Given the description of an element on the screen output the (x, y) to click on. 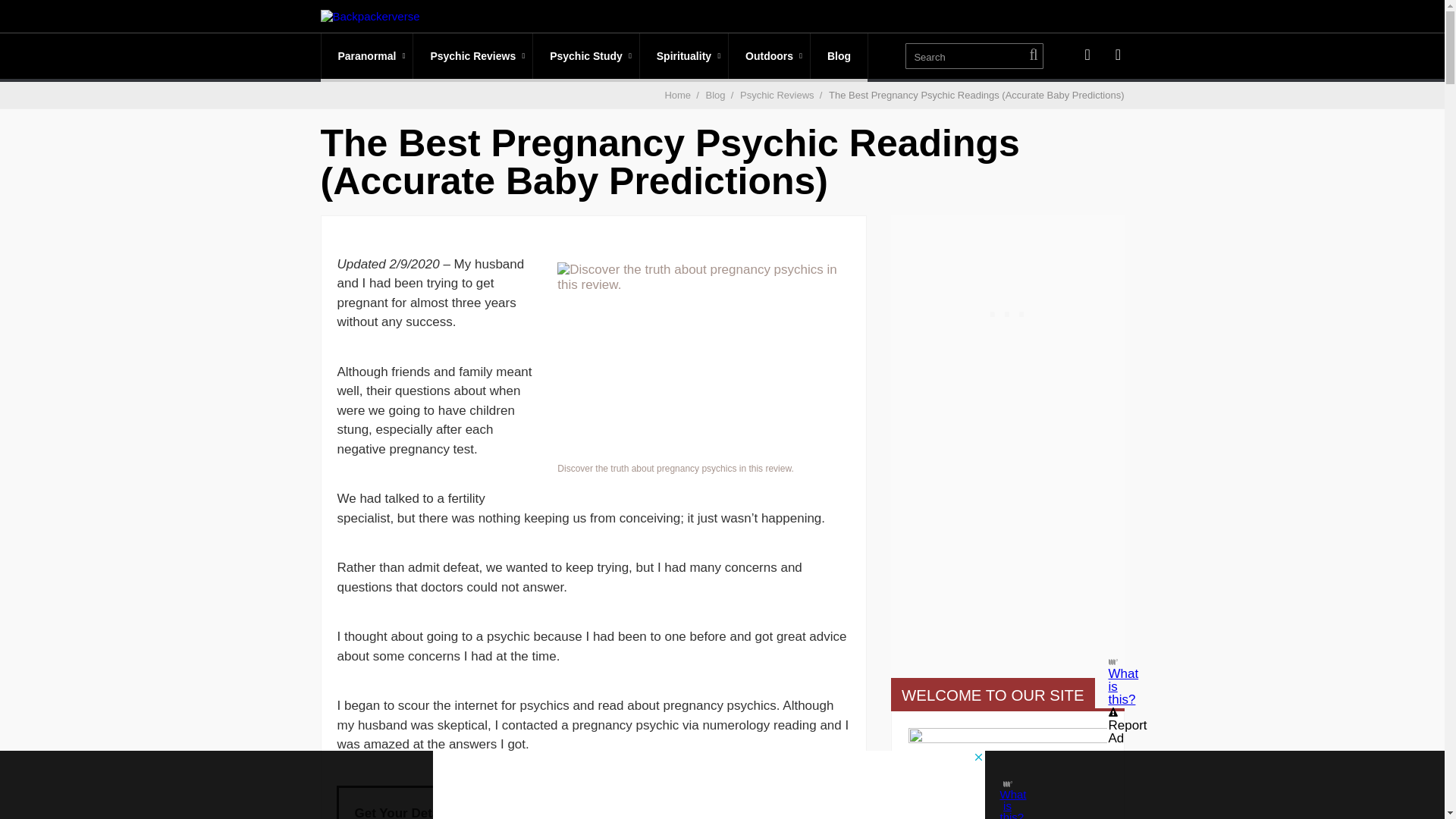
Psychic Study (585, 55)
3rd party ad content (1007, 309)
Psychic Reviews (472, 55)
3rd party ad content (708, 785)
Paranormal (367, 55)
